Given the description of an element on the screen output the (x, y) to click on. 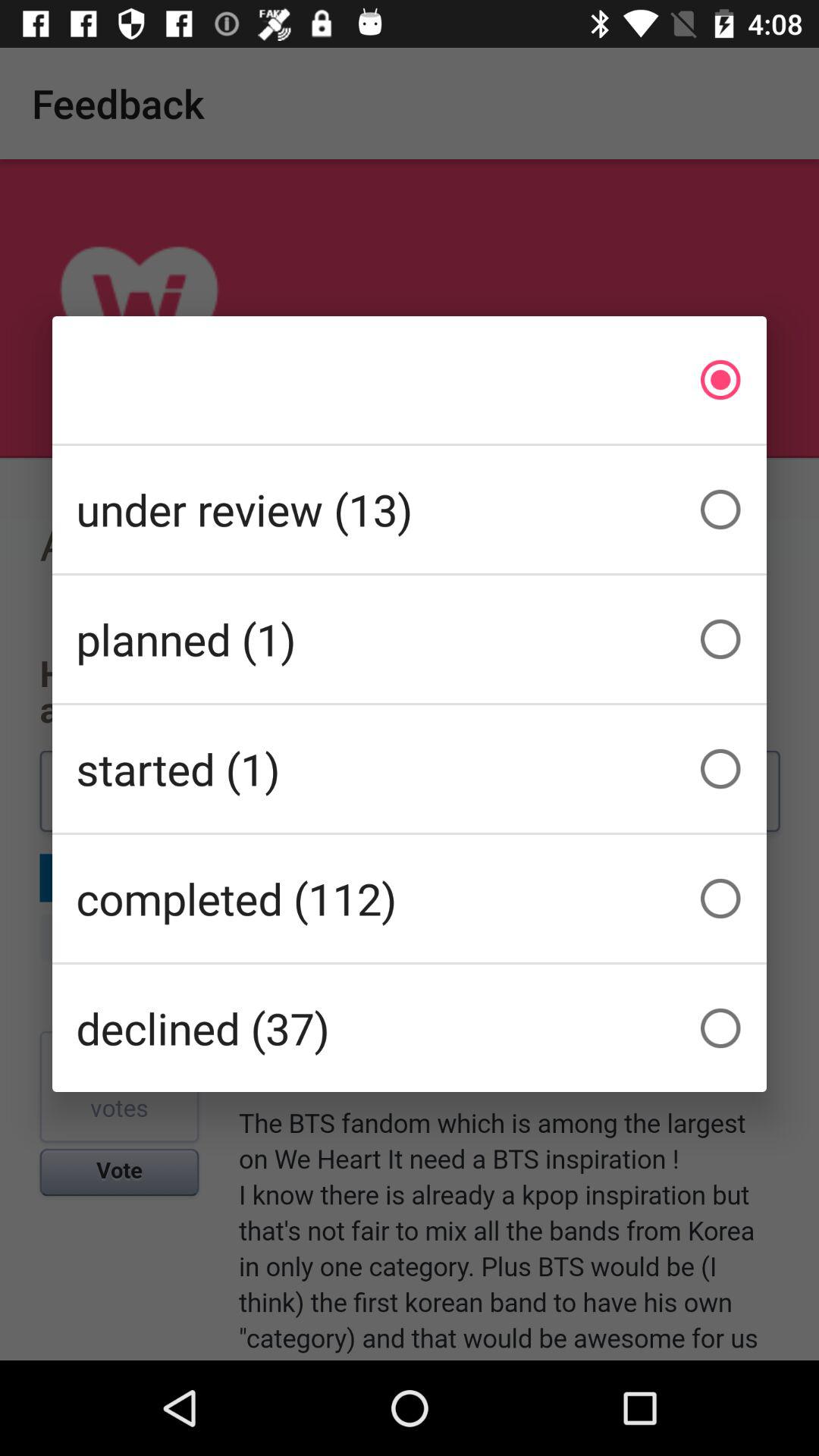
open icon at the bottom (409, 1028)
